Given the description of an element on the screen output the (x, y) to click on. 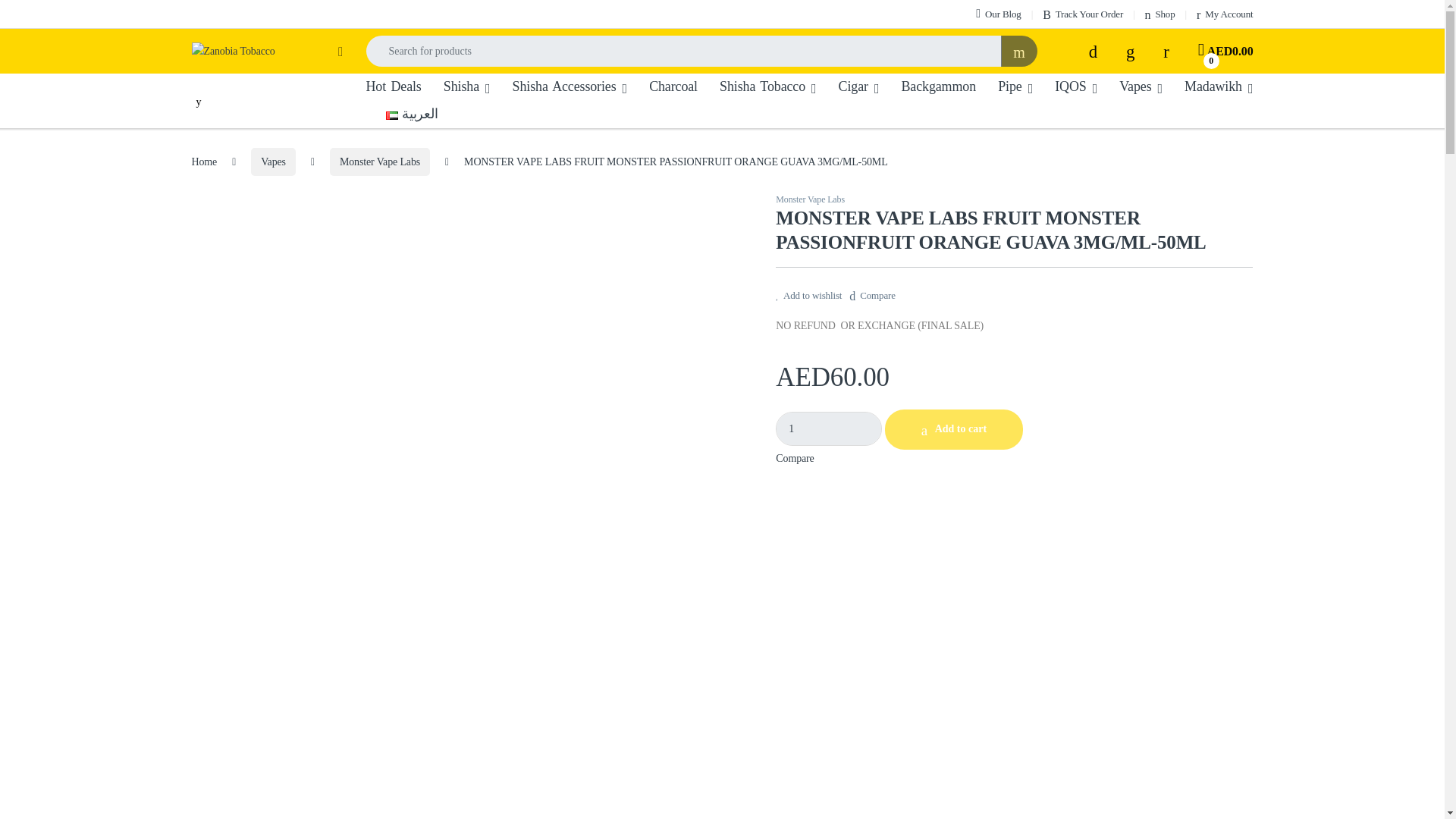
Track Your Order (1082, 13)
My Account (1224, 13)
1 (829, 428)
My Account (1224, 13)
Our Blog (997, 13)
Our Blog (997, 13)
Shop (1159, 13)
Shop (1159, 13)
Track Your Order (1082, 13)
